Given the description of an element on the screen output the (x, y) to click on. 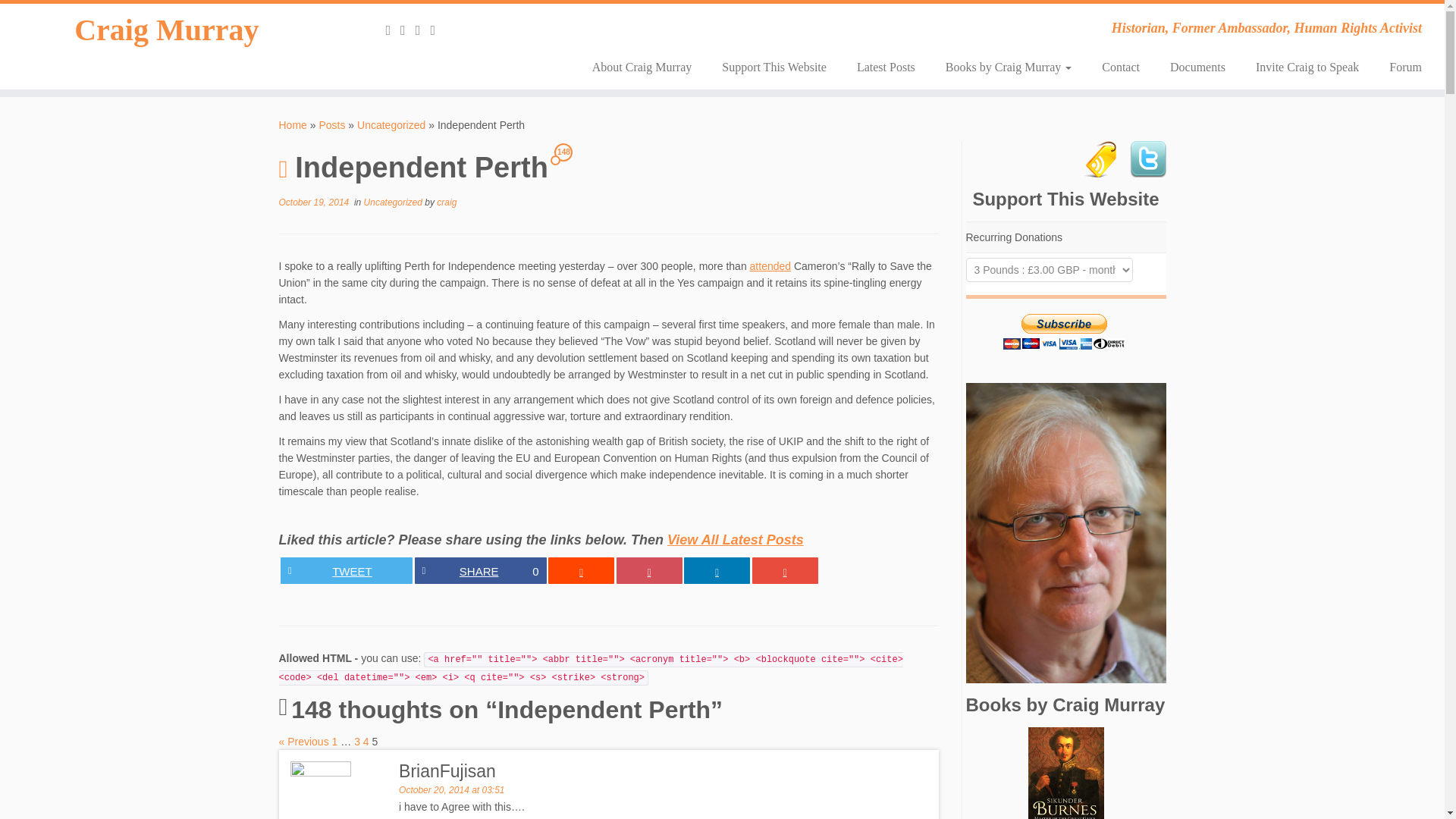
TWEET (346, 570)
Craig Murray (479, 570)
Invite Craig to Speak (293, 124)
10:28 (1307, 67)
E-mail (314, 202)
Uncategorized (407, 29)
Documents (390, 124)
Contact (1197, 67)
Tweet on Twitter (1120, 67)
